Given the description of an element on the screen output the (x, y) to click on. 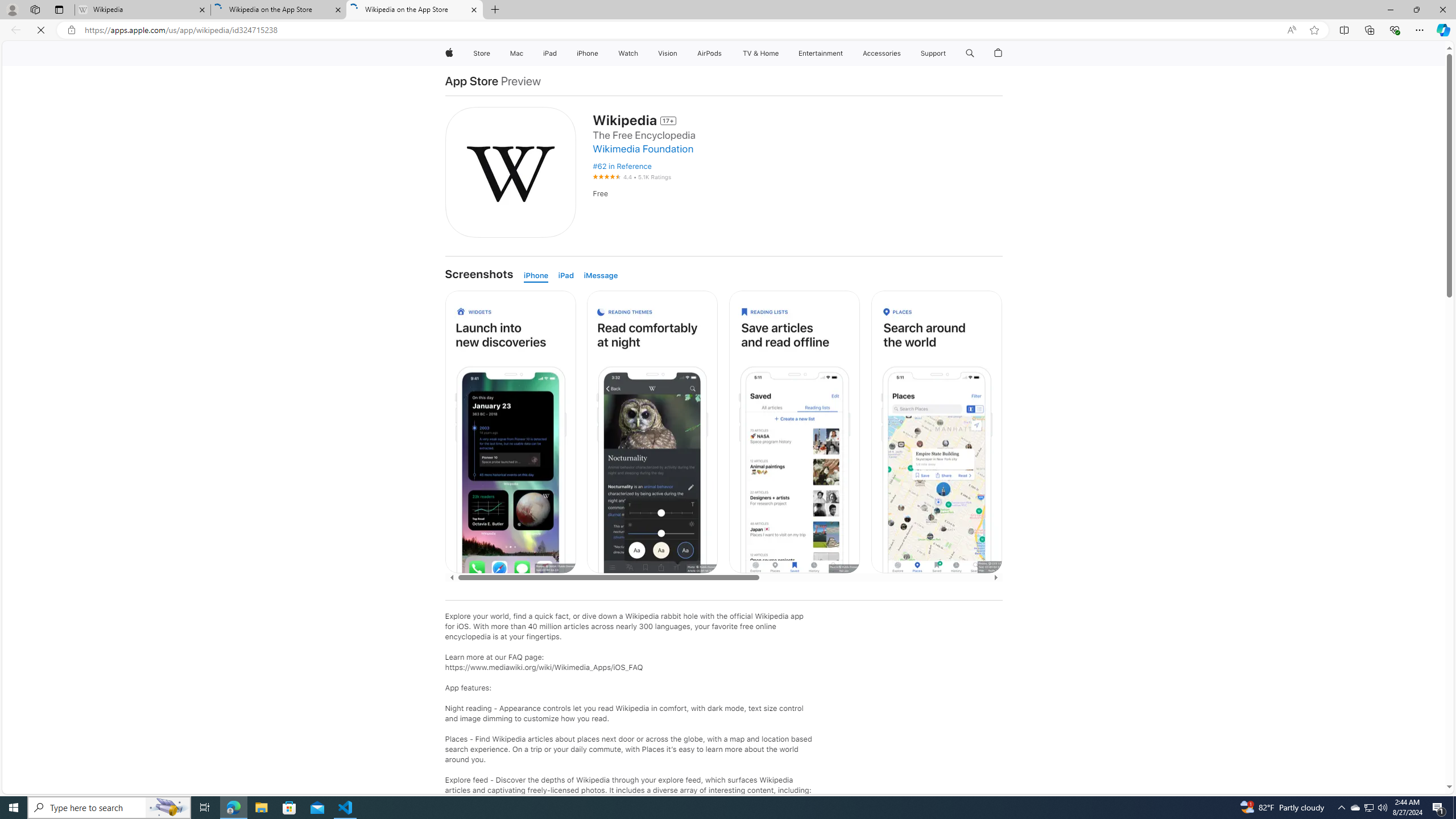
TV and Home (759, 53)
#62 in Reference (797, 166)
iPhone (538, 275)
iPad (568, 275)
Support (932, 53)
iPhone (538, 275)
App Store (473, 80)
AirPods (709, 53)
